Given the description of an element on the screen output the (x, y) to click on. 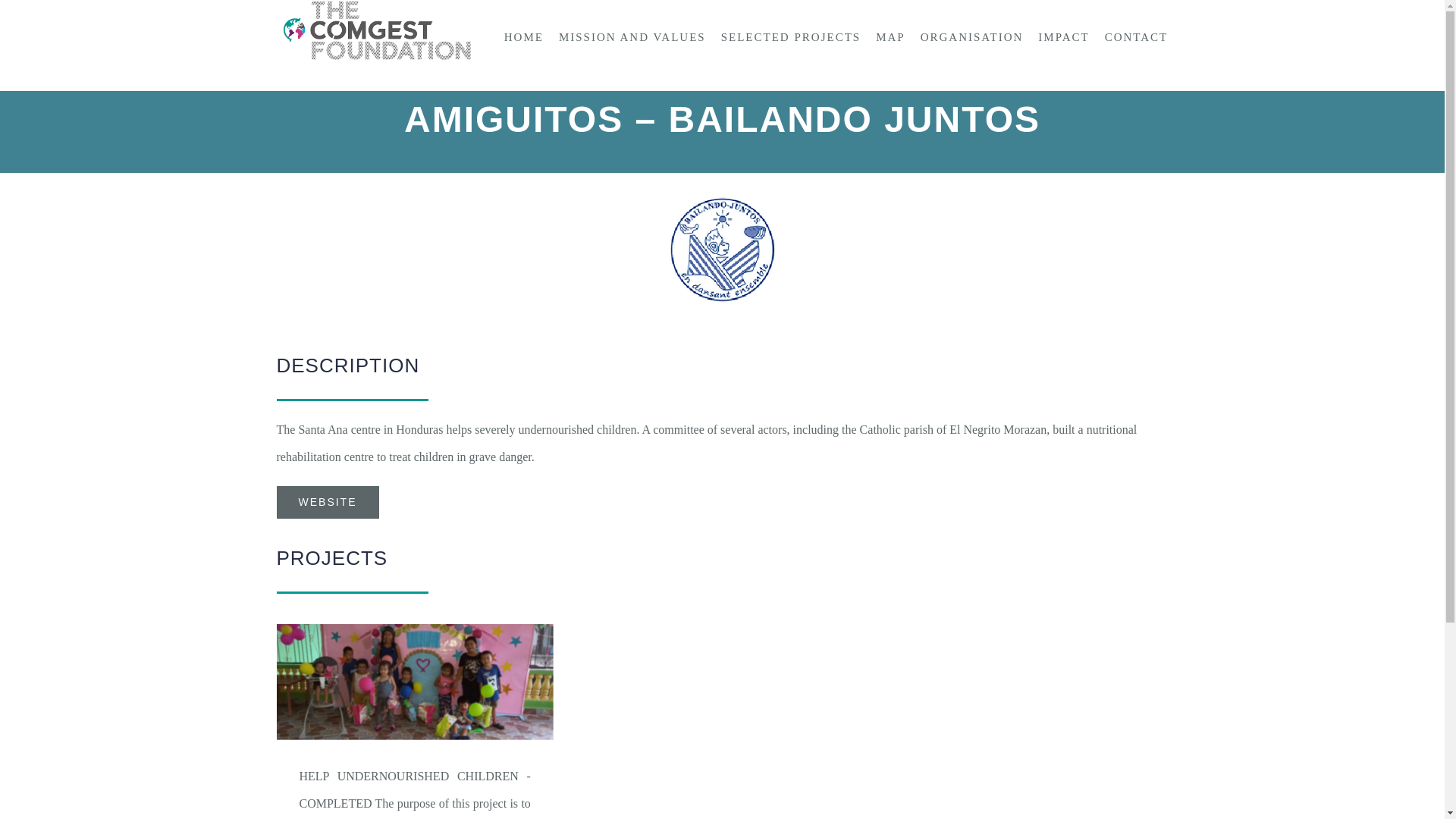
MISSION AND VALUES (632, 36)
ORGANISATION (971, 36)
IMPACT (1063, 36)
SELECTED PROJECTS (790, 36)
CONTACT (1137, 36)
Logo AOAH-Capture (722, 252)
WEBSITE (327, 502)
